Given the description of an element on the screen output the (x, y) to click on. 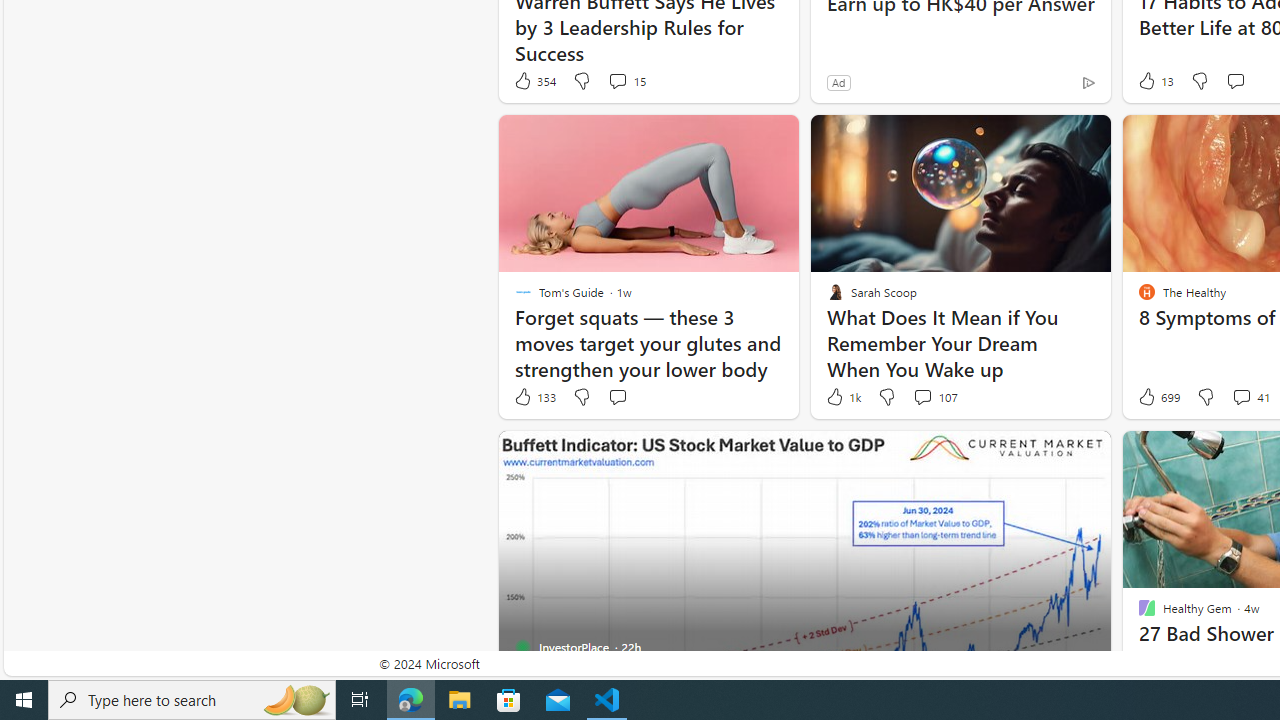
Hide this story (1050, 454)
699 Like (1157, 397)
354 Like (534, 80)
View comments 41 Comment (1249, 397)
View comments 15 Comment (617, 80)
133 Like (534, 397)
View comments 107 Comment (922, 396)
1k Like (842, 397)
View comments 15 Comment (626, 80)
